Given the description of an element on the screen output the (x, y) to click on. 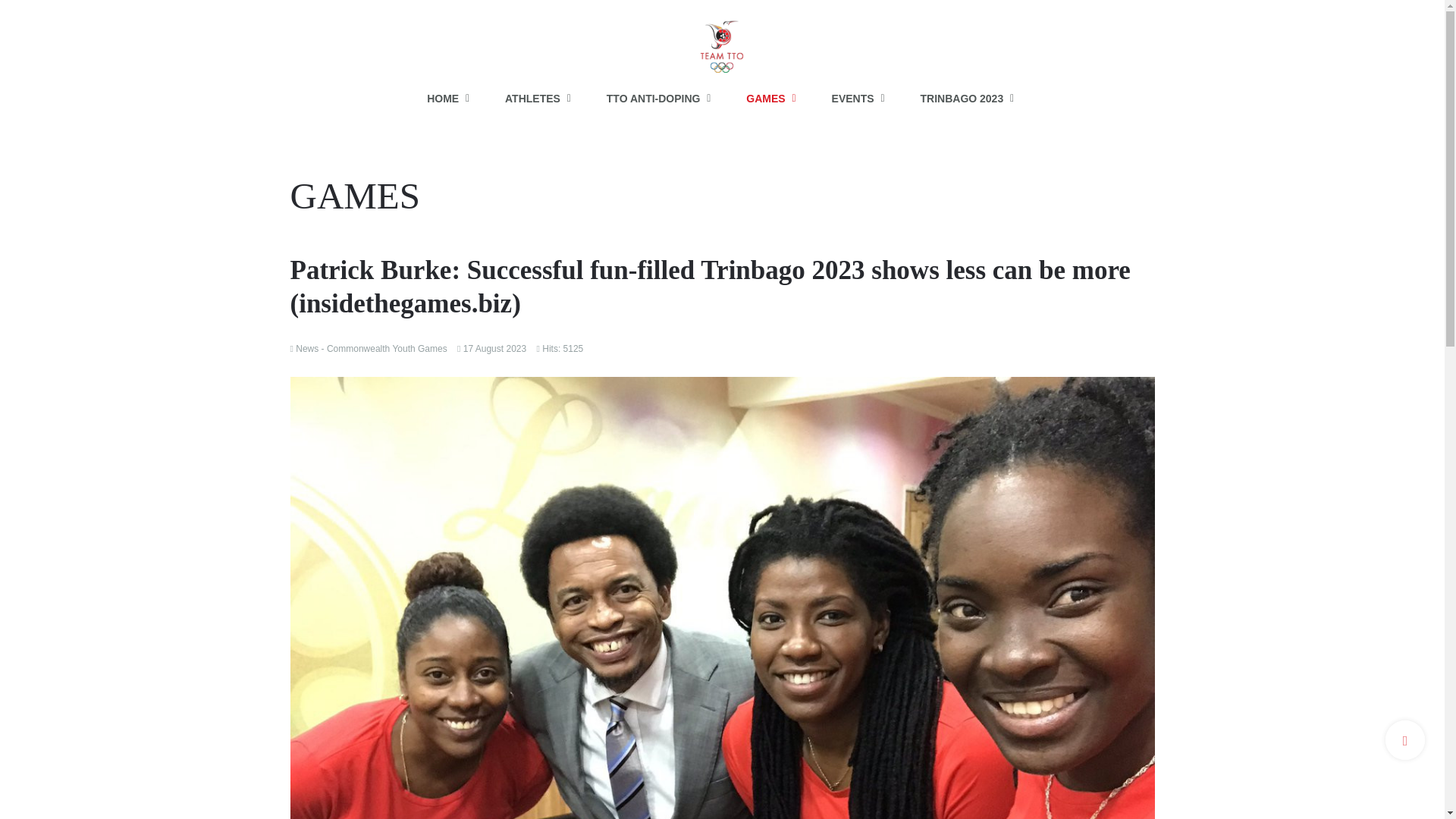
Published:  (491, 347)
Category:  (367, 347)
Team TTO (721, 38)
Back to Top (1405, 740)
